Given the description of an element on the screen output the (x, y) to click on. 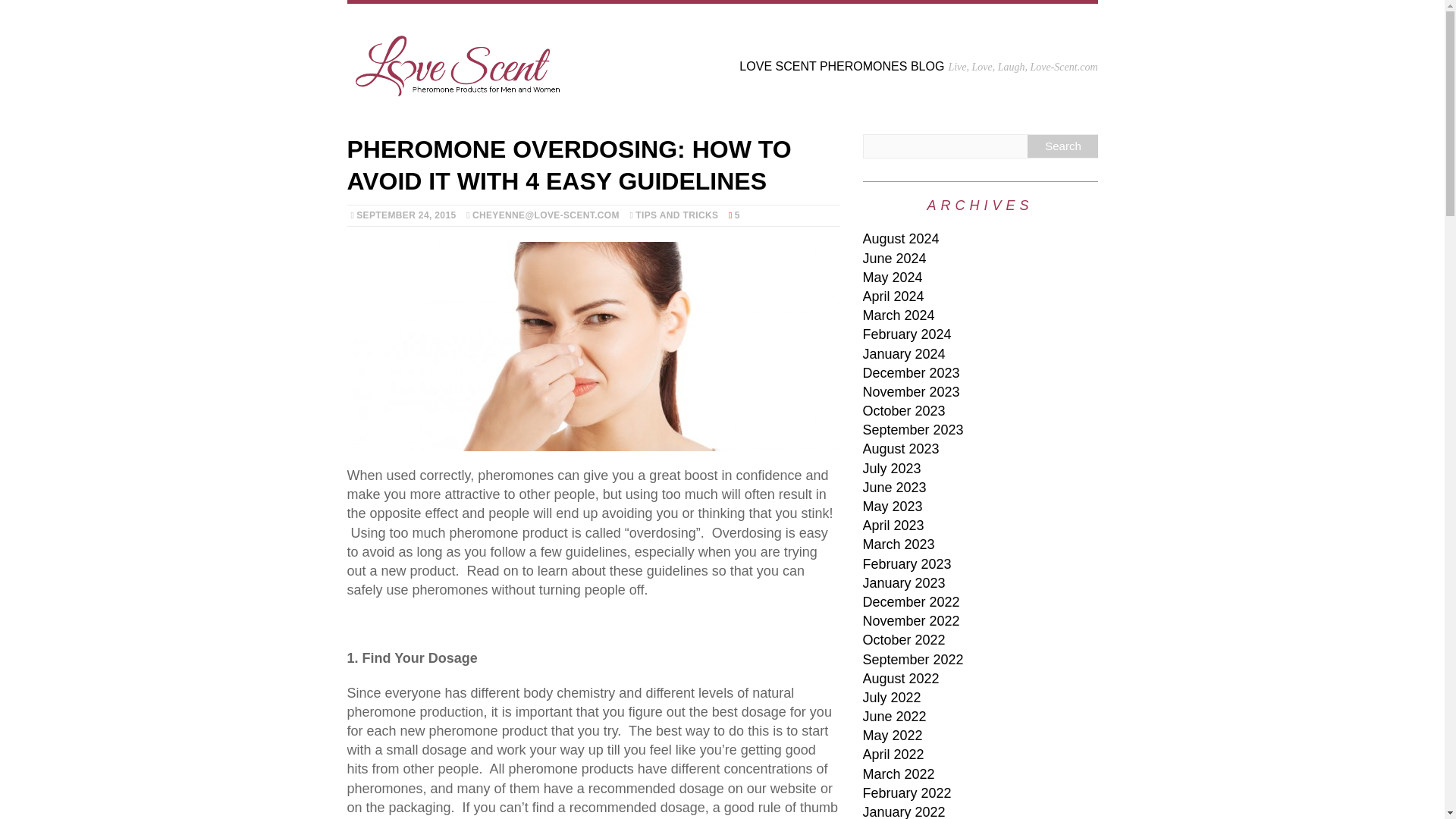
May 2024 (893, 277)
February 2024 (907, 334)
January 2024 (903, 353)
October 2023 (903, 410)
LOVE SCENT PHEROMONES BLOG Live, Love, Laugh, Love-Scent.com (722, 61)
April 2024 (893, 296)
June 2024 (894, 258)
TIPS AND TRICKS (675, 214)
Search (1062, 146)
Love Scent Pheromones Blog (722, 61)
